Given the description of an element on the screen output the (x, y) to click on. 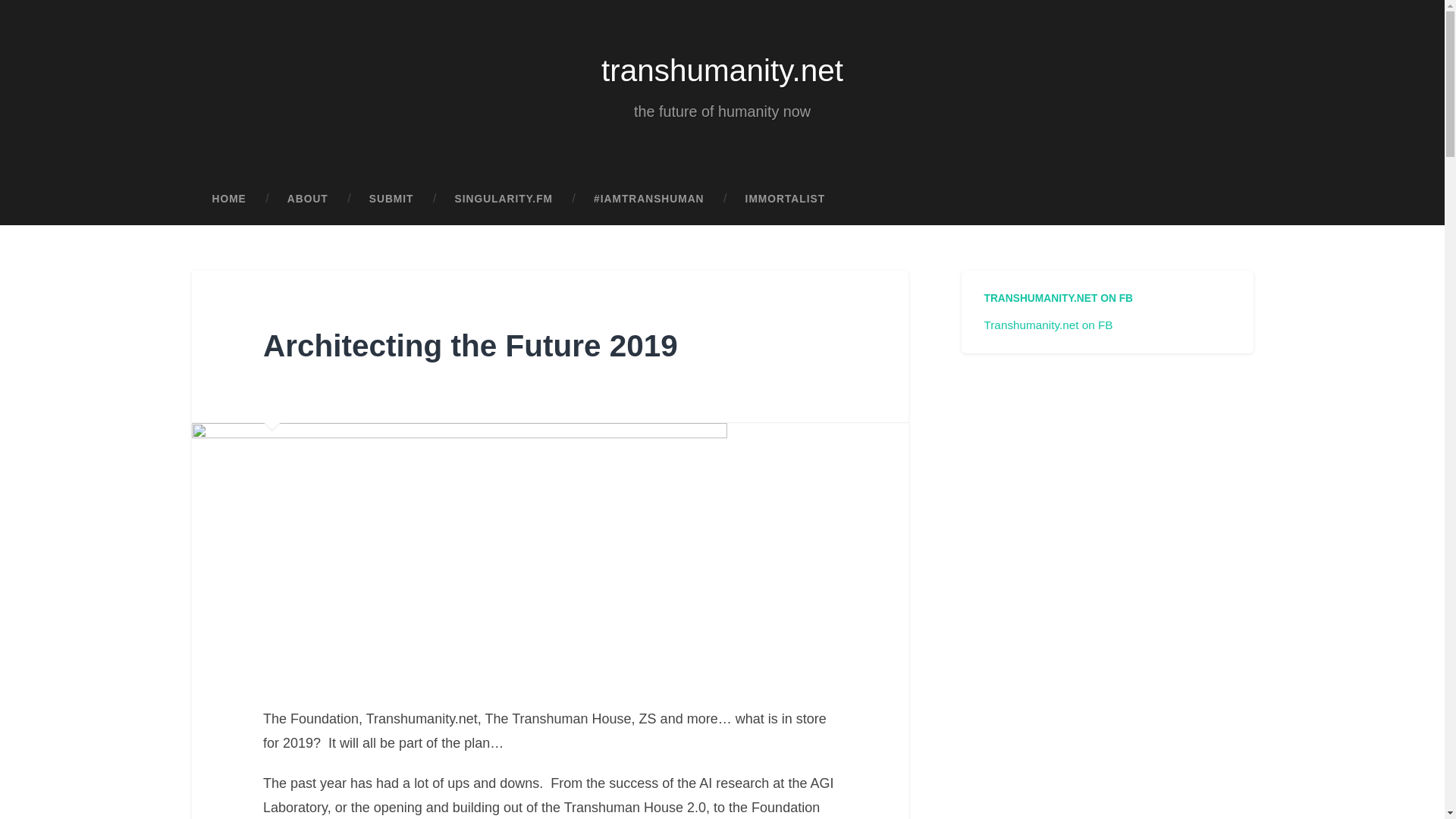
Helping Move Transhumanism Forward (649, 199)
SUBMIT (391, 199)
IMMORTALIST (785, 199)
HOME (228, 199)
SINGULARITY.FM (503, 199)
ABOUT (307, 199)
Architecting the Future 2019 (470, 345)
transhumanity.net (722, 70)
